Given the description of an element on the screen output the (x, y) to click on. 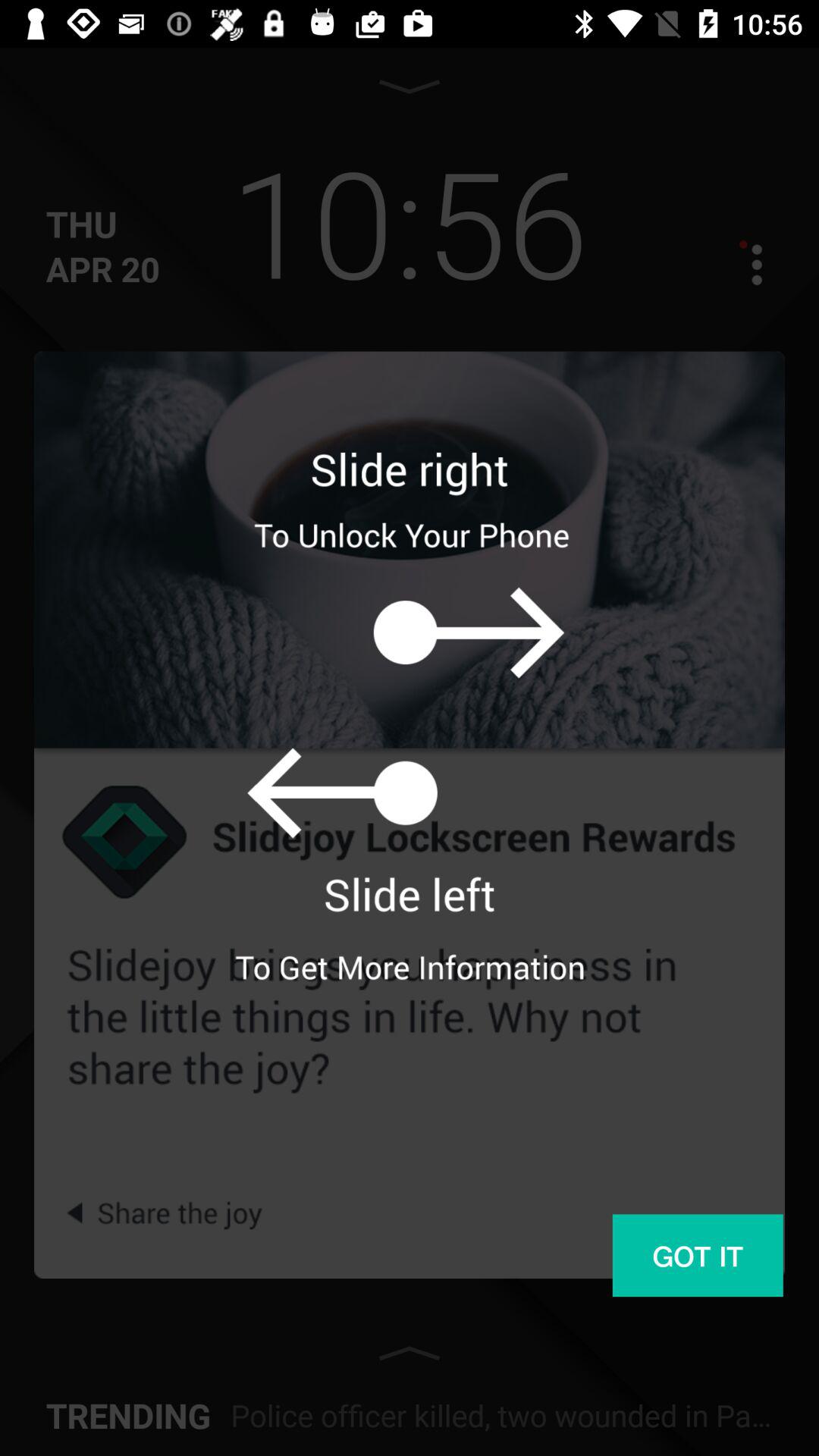
view menu (742, 264)
